Given the description of an element on the screen output the (x, y) to click on. 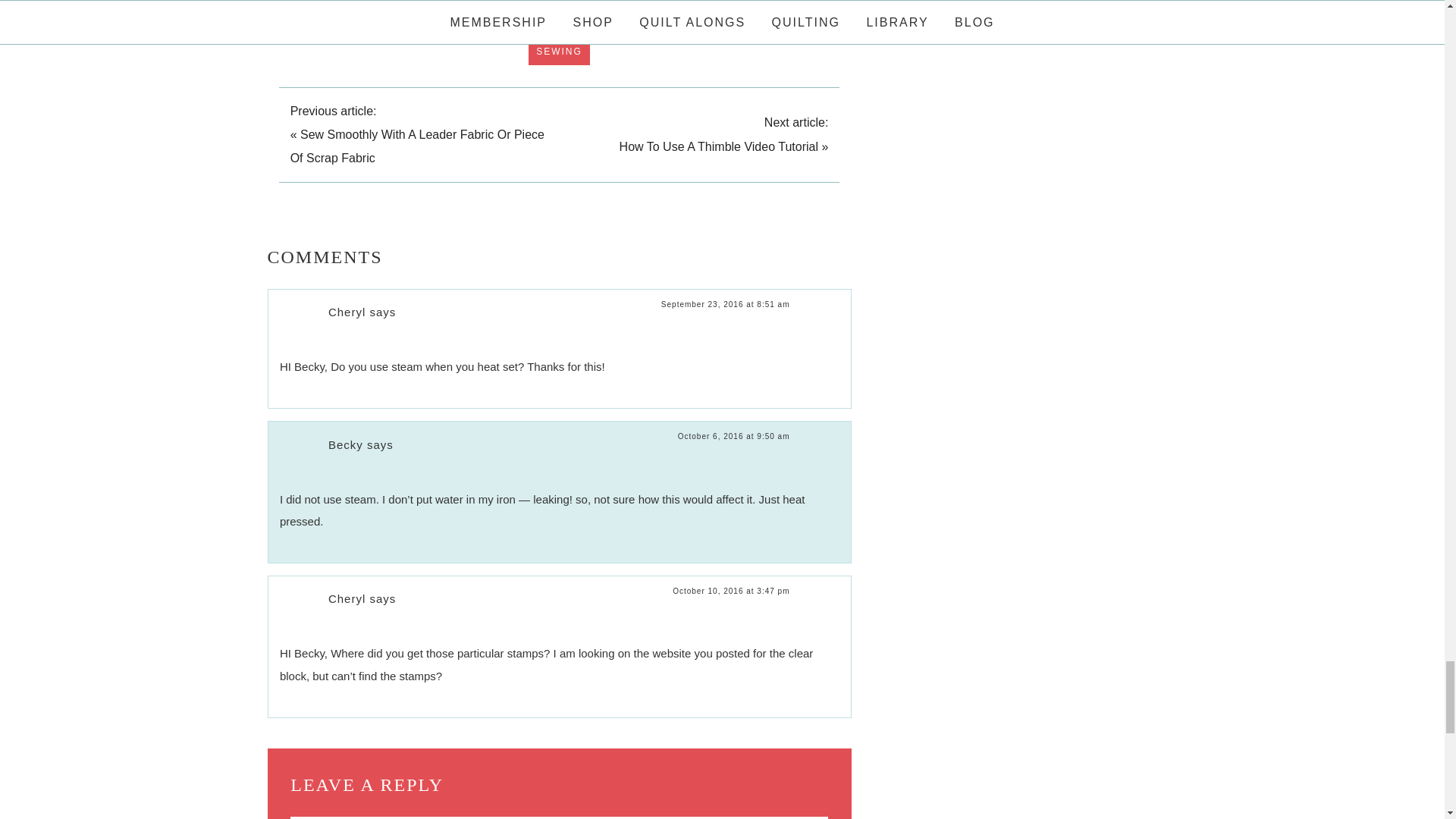
Share on X (508, 8)
Save to Pinterest (315, 8)
Share on Facebook (417, 8)
